Given the description of an element on the screen output the (x, y) to click on. 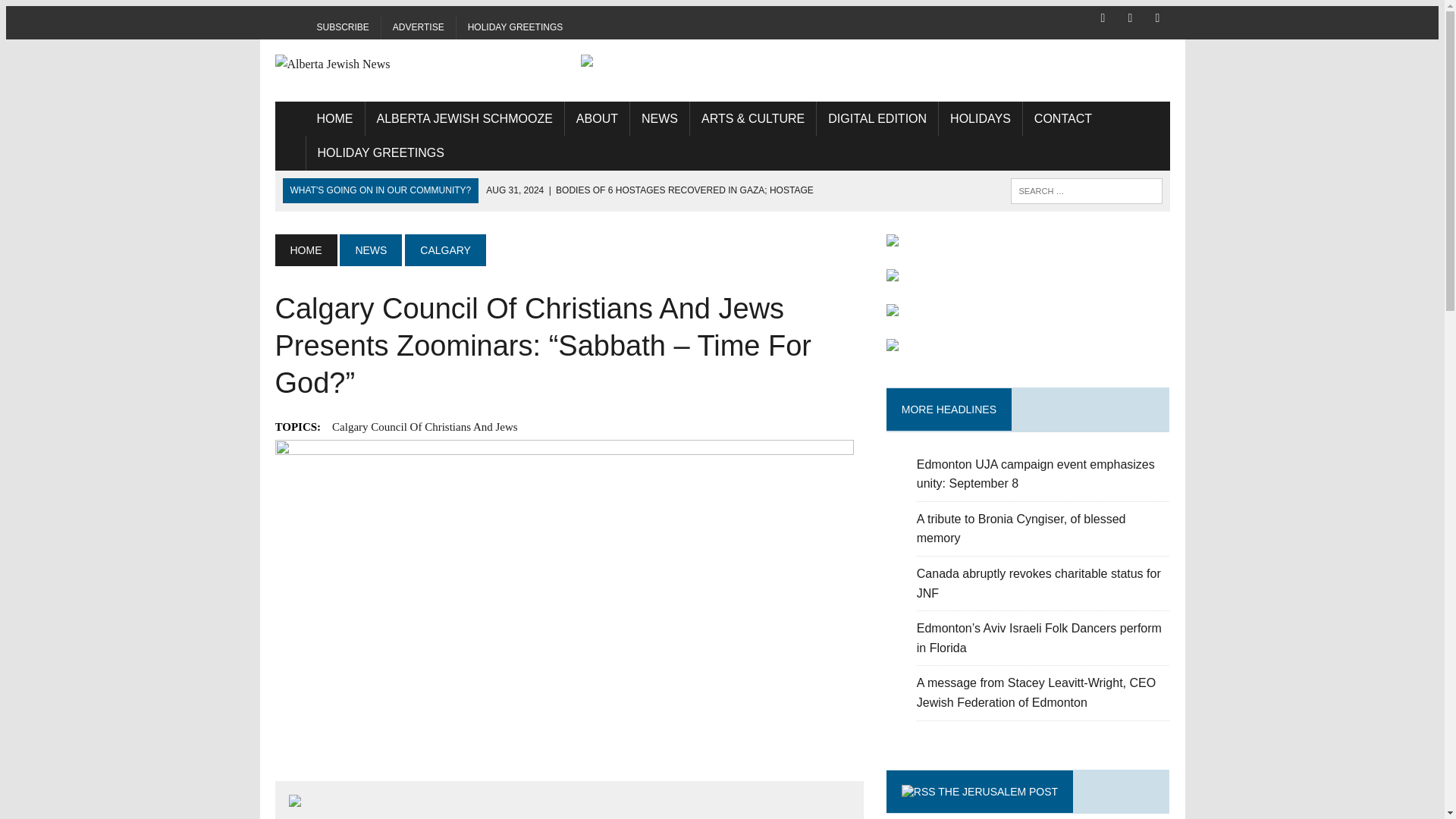
HOME (305, 250)
DIGITAL EDITION (876, 118)
HOLIDAYS (980, 118)
Alberta Jewish News (416, 64)
ADVERTISE (418, 27)
ALBERTA JEWISH SCHMOOZE (464, 118)
HOME (334, 118)
NEWS (370, 250)
SUBSCRIBE (342, 27)
HOLIDAY GREETINGS (516, 27)
